Given the description of an element on the screen output the (x, y) to click on. 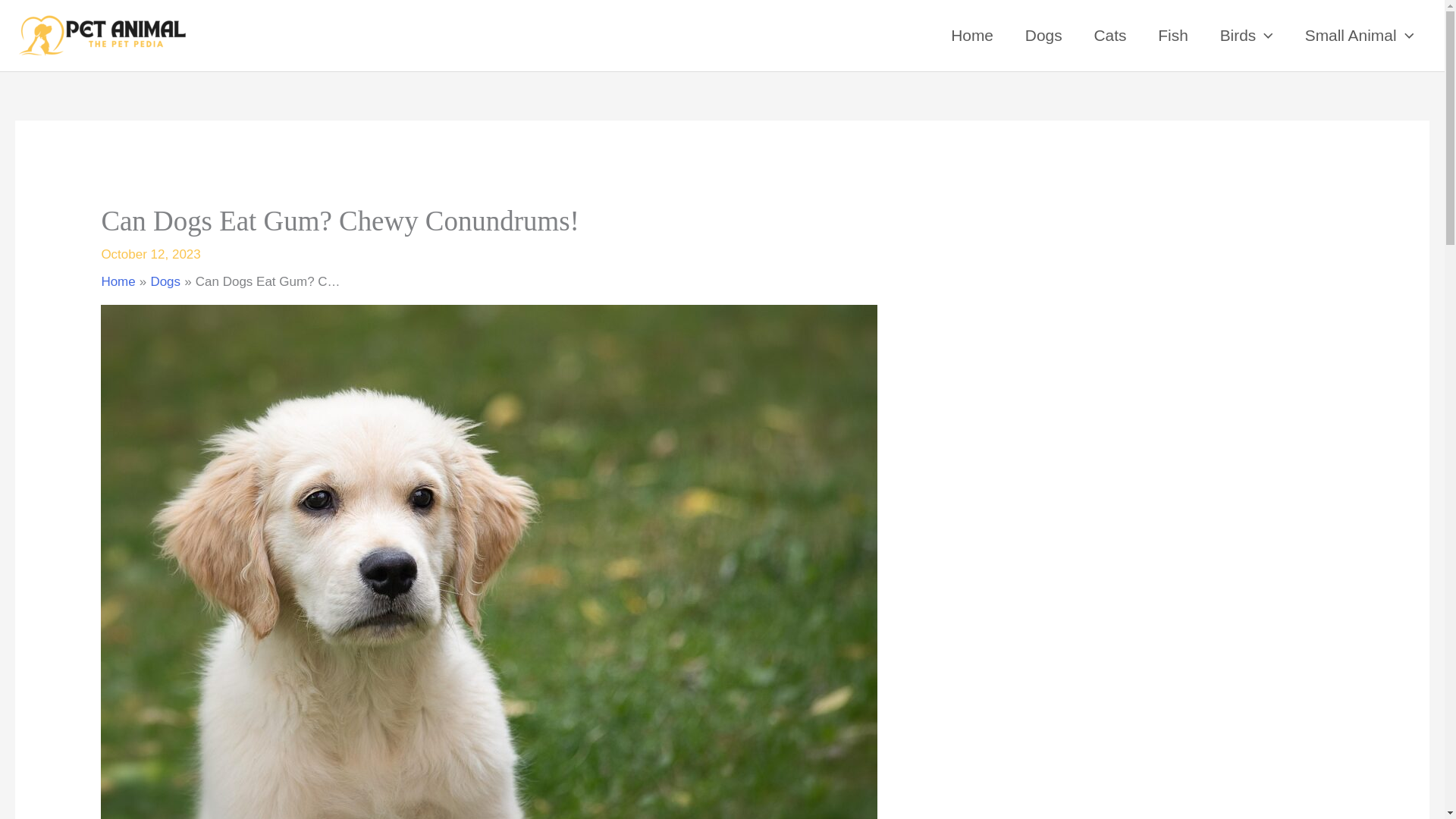
Dogs (1043, 35)
Small Animal (1358, 35)
Home (971, 35)
Birds (1246, 35)
Fish (1172, 35)
Cats (1110, 35)
